Given the description of an element on the screen output the (x, y) to click on. 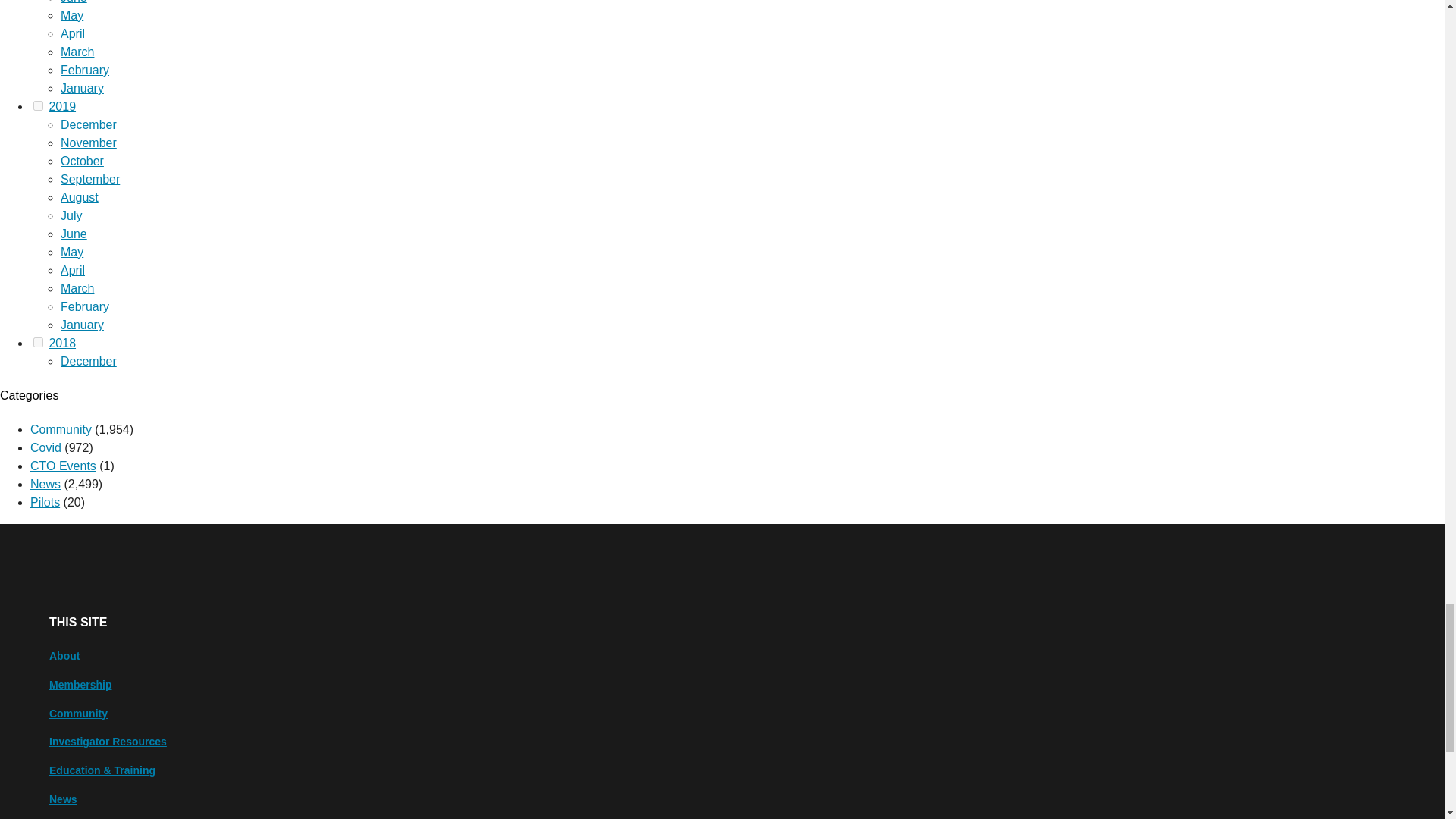
on (38, 342)
on (38, 105)
